Given the description of an element on the screen output the (x, y) to click on. 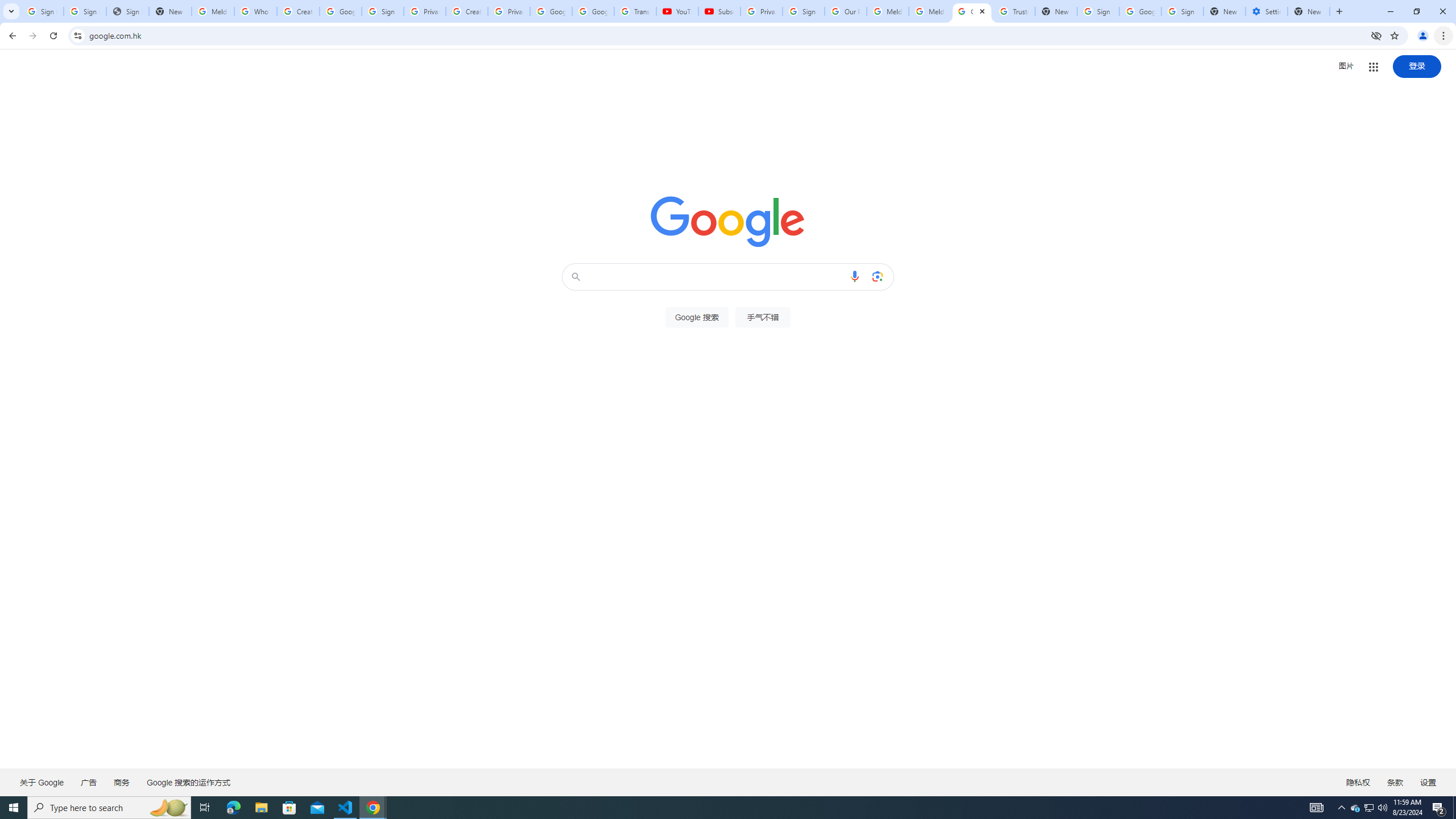
Create your Google Account (467, 11)
Create your Google Account (298, 11)
Google (972, 11)
Subscriptions - YouTube (719, 11)
Sign In - USA TODAY (127, 11)
Sign in - Google Accounts (803, 11)
YouTube (676, 11)
